Given the description of an element on the screen output the (x, y) to click on. 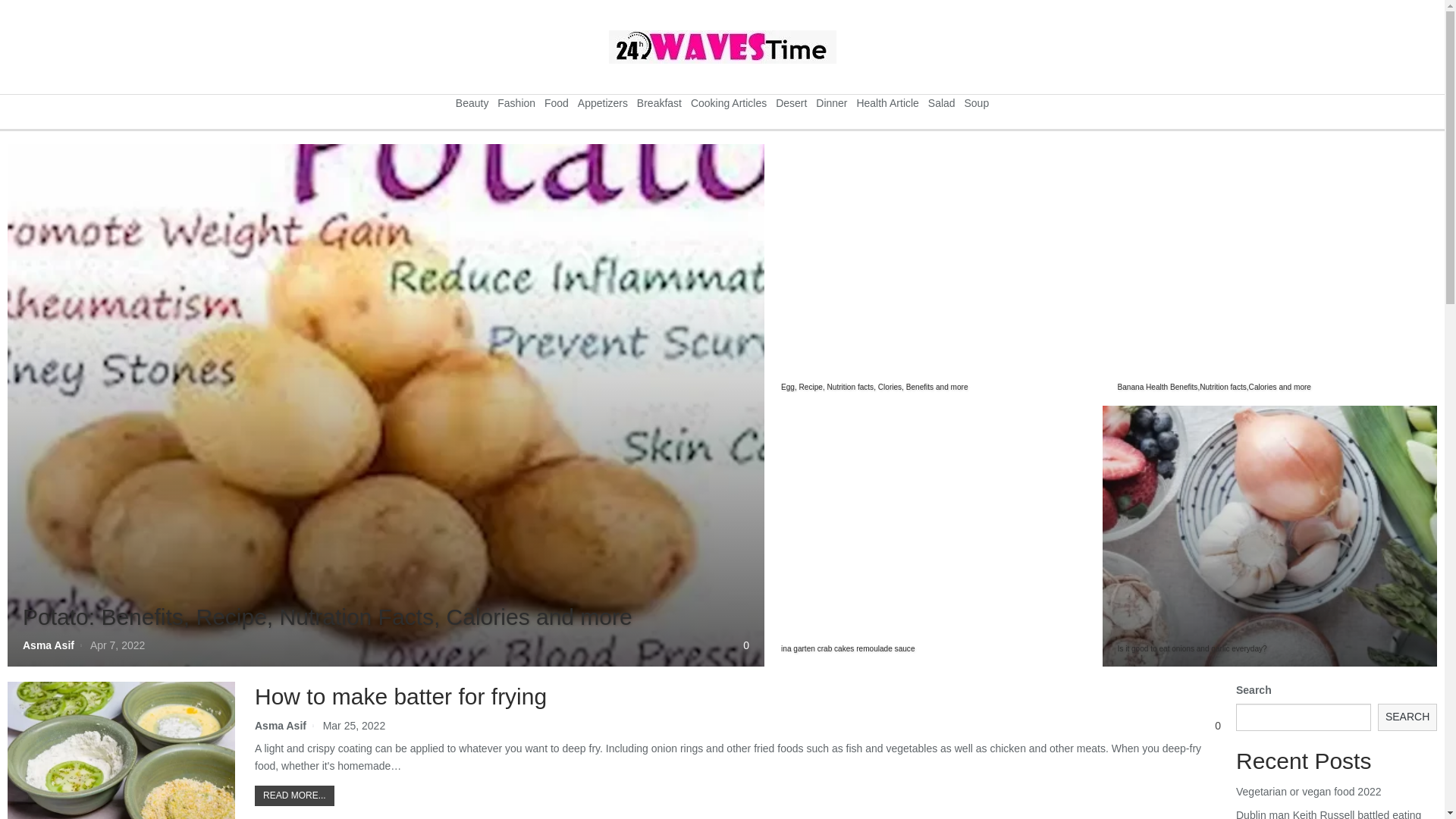
Potato: Benefits, Recipe, Nutration Facts, Calories and more Element type: text (327, 616)
Potato: Benefits, Recipe, Nutration Facts, Calories and more Element type: hover (385, 405)
Is it good to eat onions and garlic everyday? Element type: hover (1269, 535)
READ MORE... Element type: text (294, 795)
SEARCH Element type: text (1407, 717)
0 Element type: text (743, 646)
0 Element type: text (1214, 726)
How to make batter for frying Element type: text (400, 696)
Is it good to eat onions and garlic everyday? Element type: text (1192, 648)
